Given the description of an element on the screen output the (x, y) to click on. 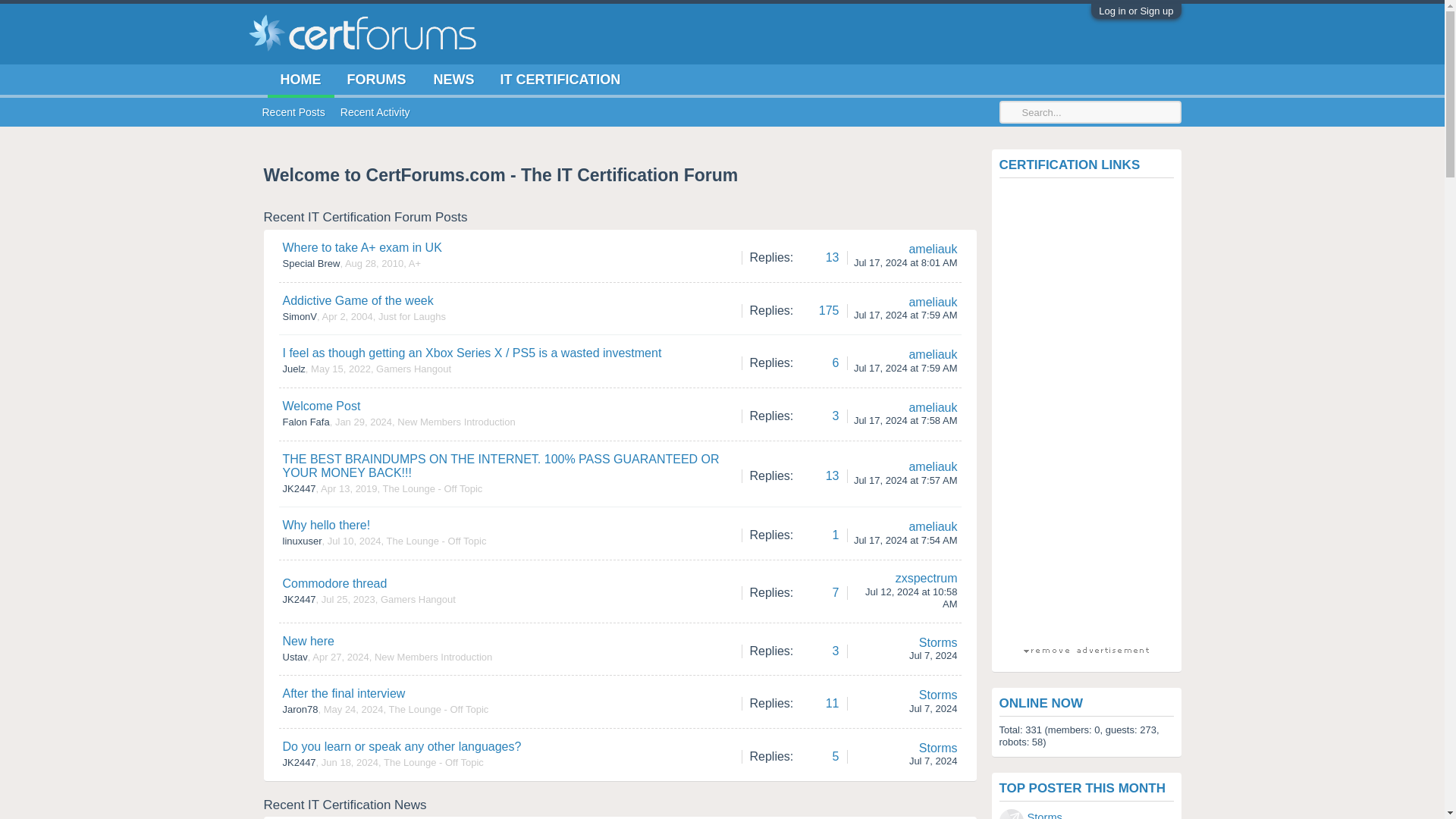
Jul 17, 2024 at 7:59 AM (905, 315)
ameliauk (932, 407)
Members who liked the first message: 0 (794, 308)
Addictive Game of the week (357, 300)
ameliauk (932, 248)
Thread starter (293, 368)
ameliauk (932, 354)
May 15, 2022 (341, 368)
Jan 29, 2024 (362, 421)
Members who liked the first message: 0 (794, 361)
Jul 17, 2024 at 8:01 AM (905, 261)
Thread starter (310, 263)
Special Brew (310, 263)
Thread starter (299, 316)
Falon Fafa (305, 421)
